Given the description of an element on the screen output the (x, y) to click on. 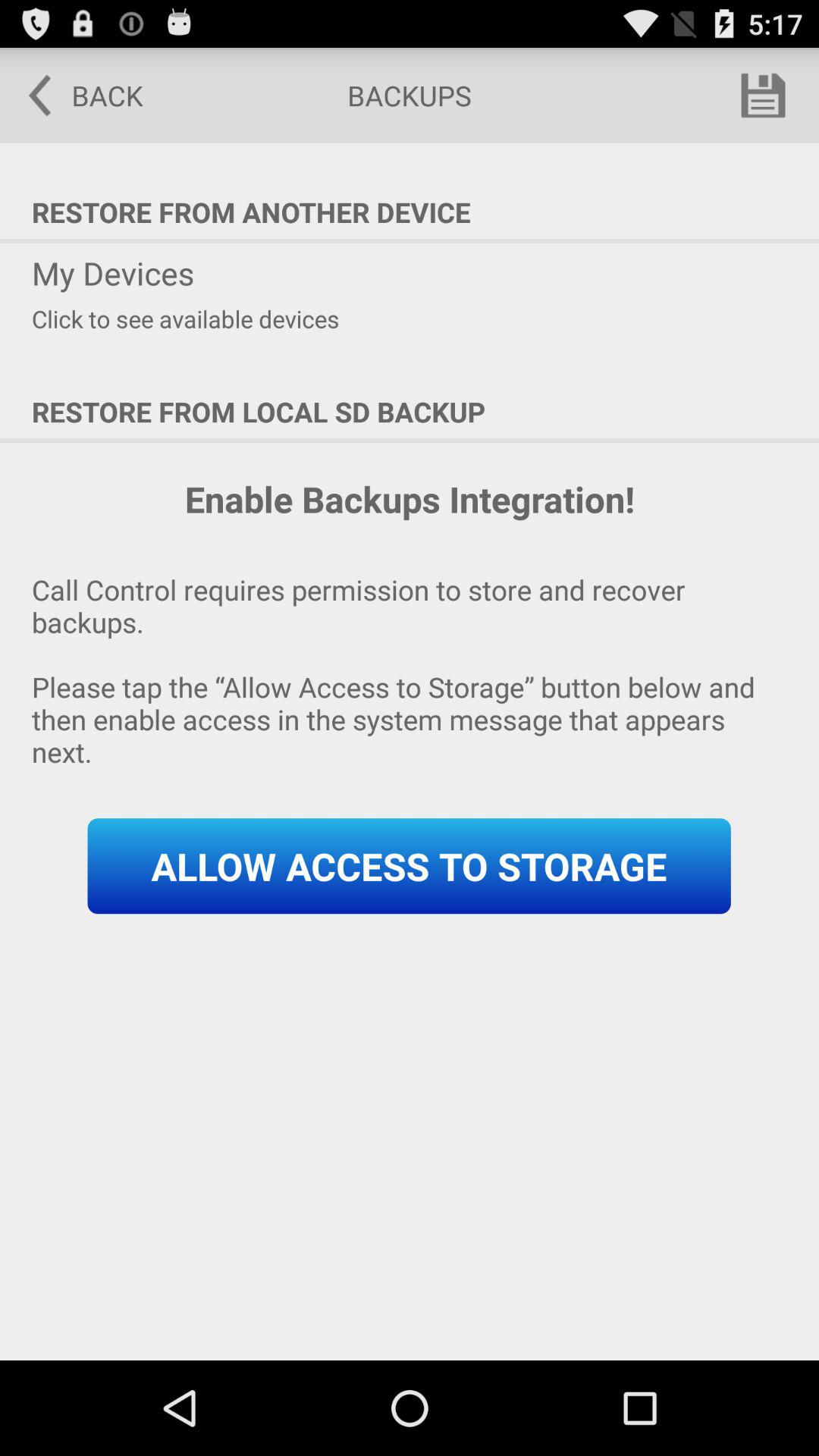
scroll until the back item (75, 95)
